Given the description of an element on the screen output the (x, y) to click on. 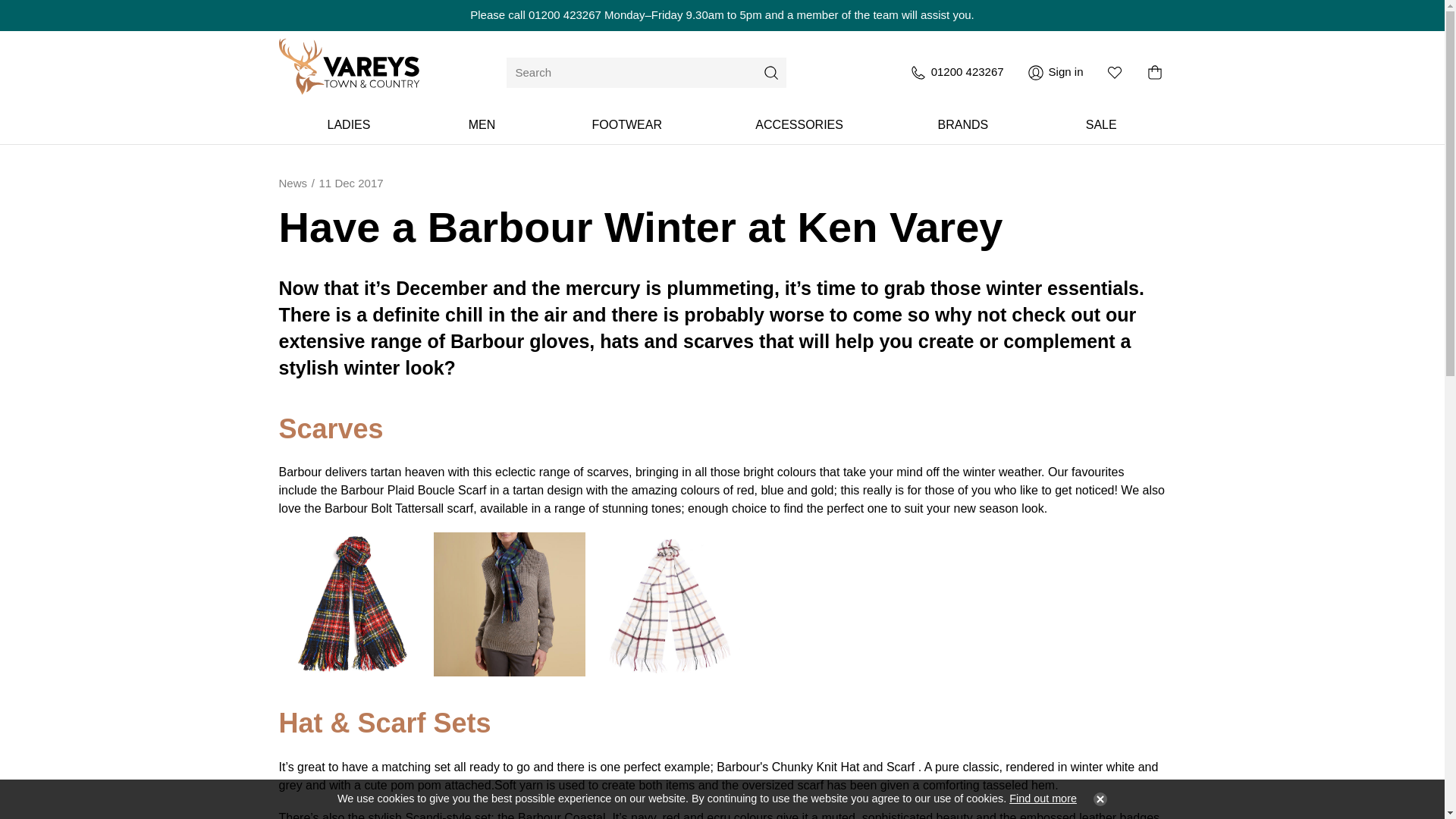
Continue (1096, 799)
01200 423267 (956, 72)
MEN (481, 125)
Outdoor Clothing for mens from Varey's Outdoor World. (481, 125)
Sign in (1055, 72)
01200 423267 (564, 14)
LADIES (349, 125)
